Given the description of an element on the screen output the (x, y) to click on. 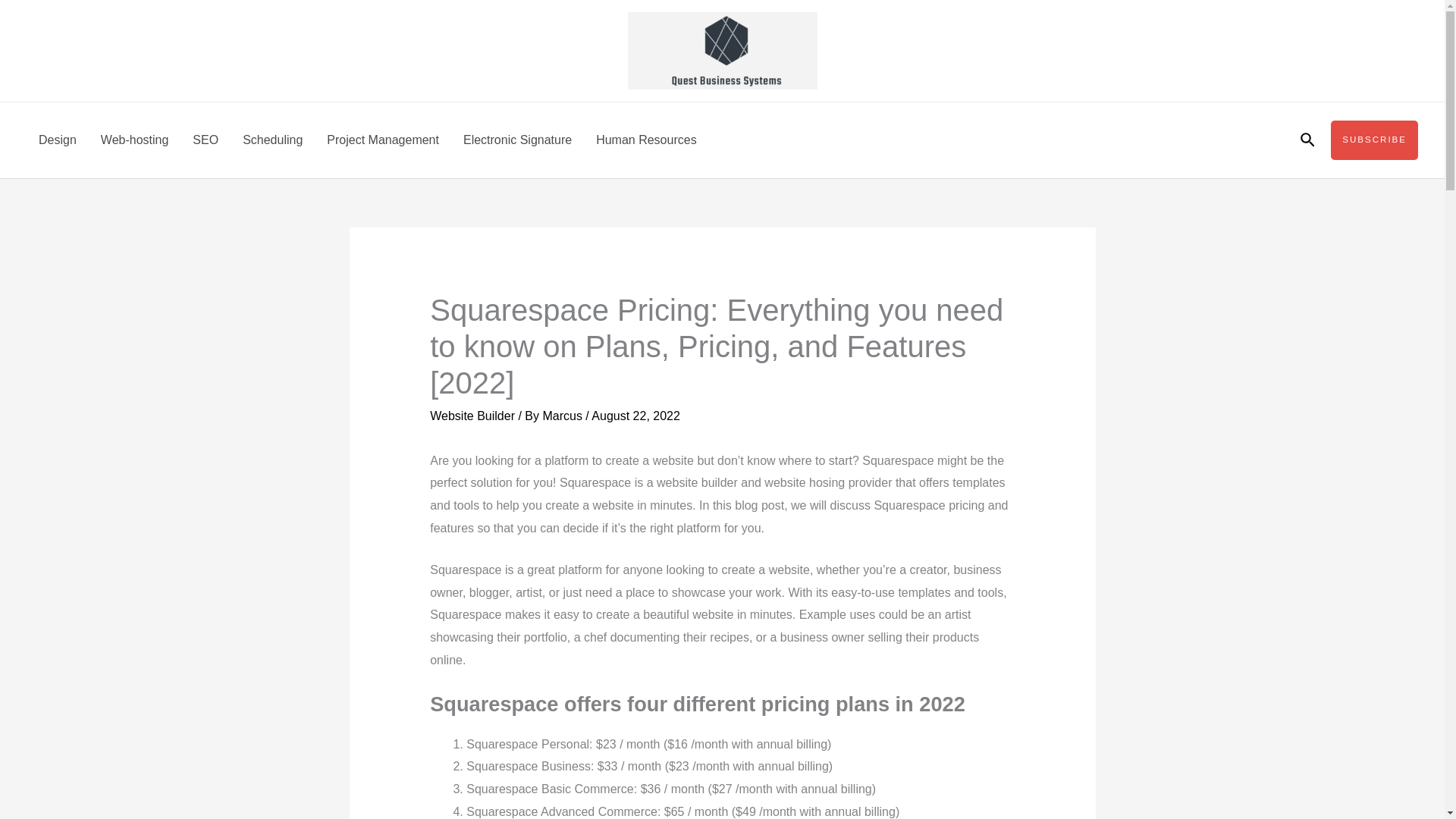
Scheduling (272, 140)
Project Management (382, 140)
Human Resources (646, 140)
SUBSCRIBE (1374, 139)
Electronic Signature (517, 140)
Marcus (563, 415)
Website Builder (472, 415)
Web-hosting (134, 140)
View all posts by Marcus (563, 415)
